Given the description of an element on the screen output the (x, y) to click on. 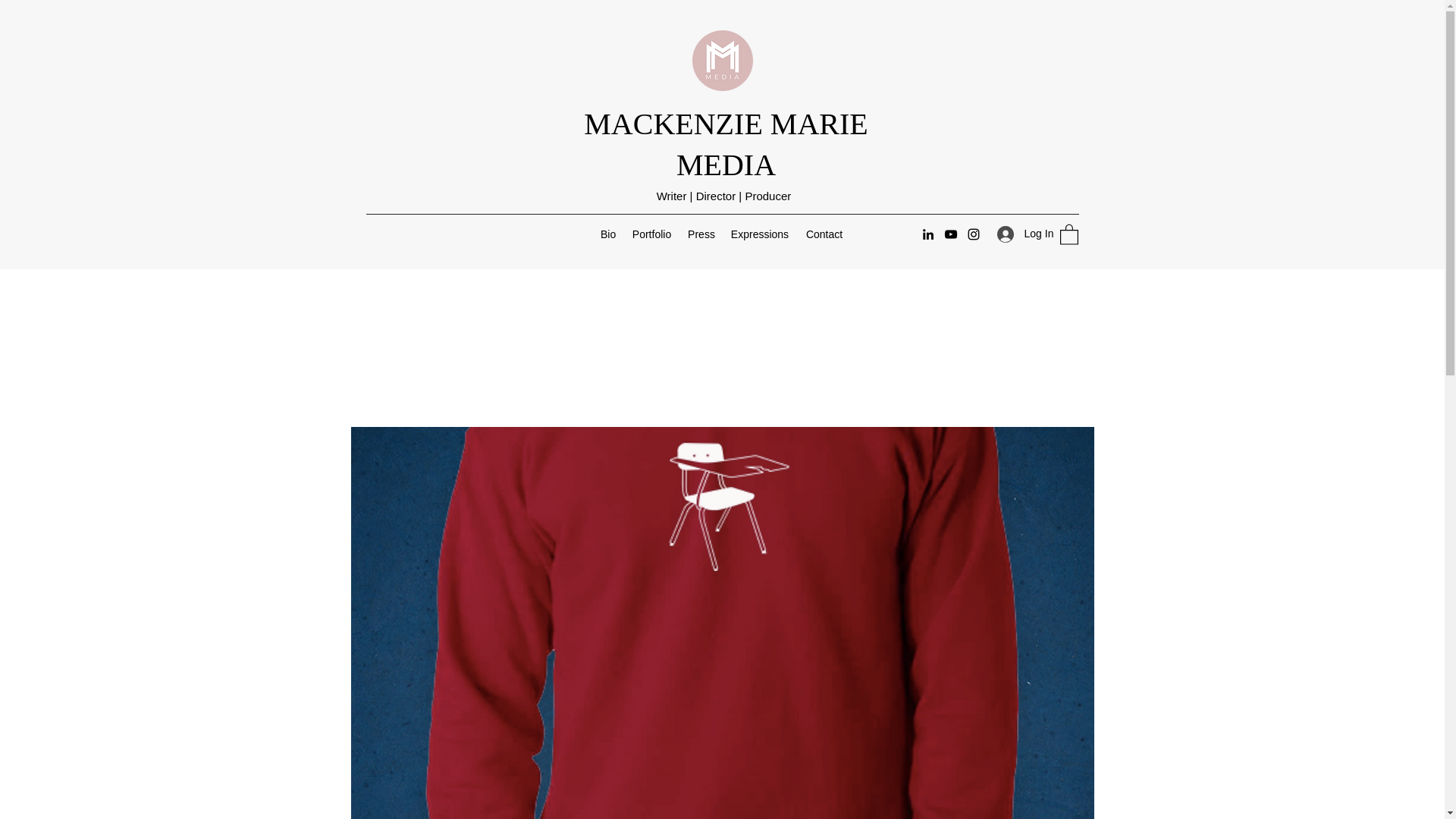
Press (700, 233)
Portfolio (651, 233)
Bio (607, 233)
Expressions (759, 233)
Log In (1019, 234)
Contact (823, 233)
MACKENZIE MARIE MEDIA (725, 144)
